Given the description of an element on the screen output the (x, y) to click on. 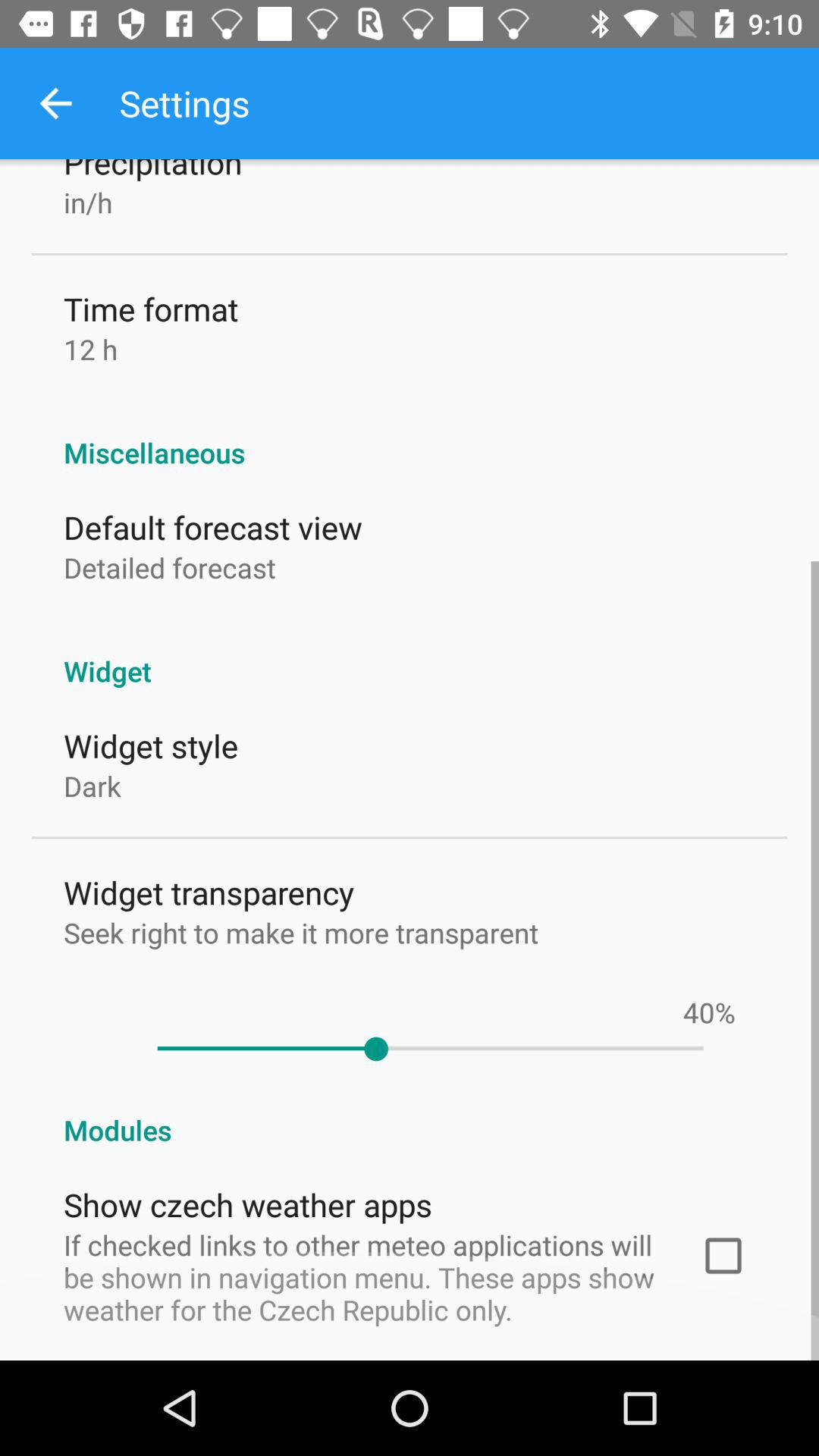
open the app next to settings (55, 103)
